Given the description of an element on the screen output the (x, y) to click on. 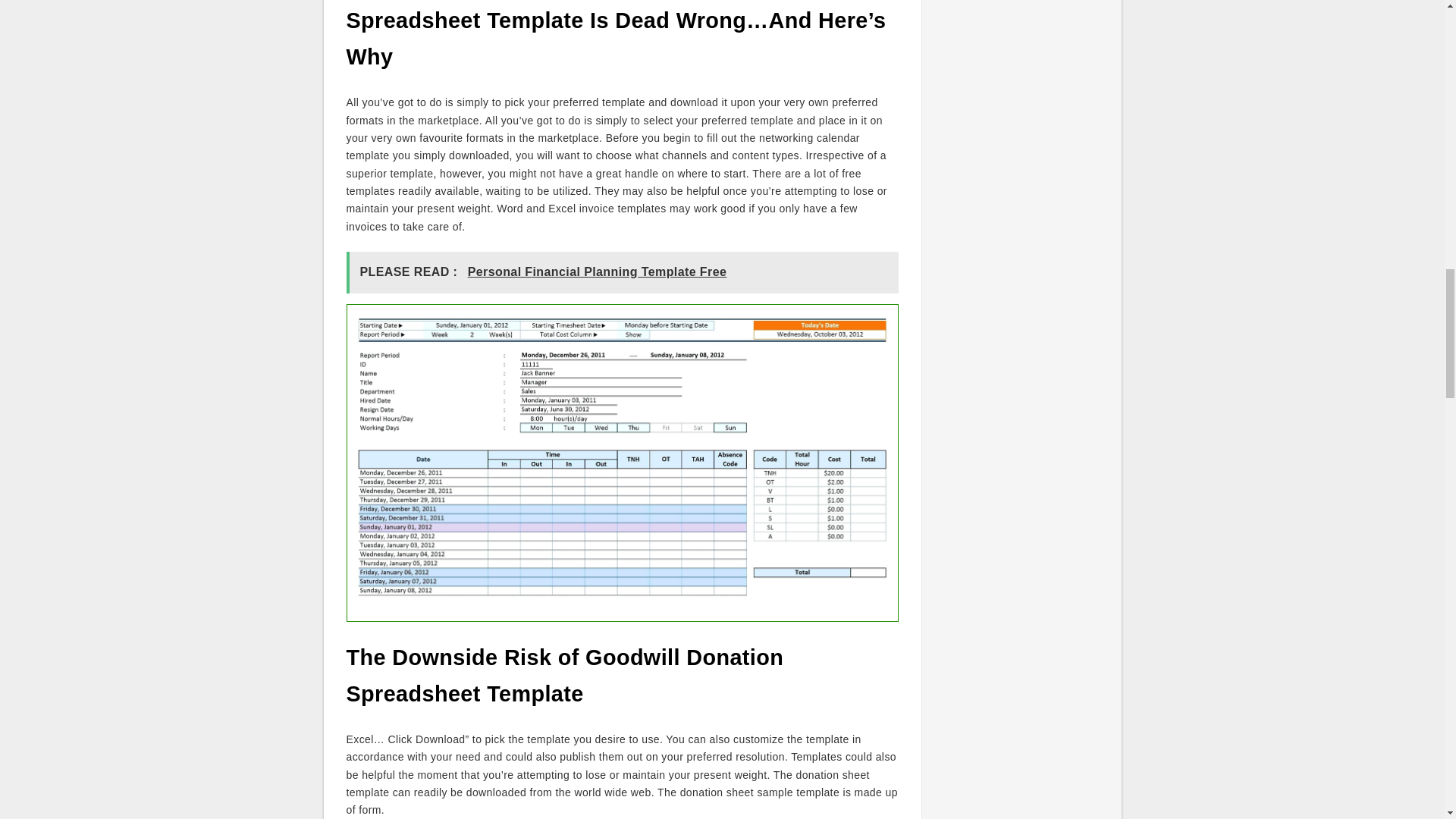
PLEASE READ :   Personal Financial Planning Template Free (622, 272)
